Given the description of an element on the screen output the (x, y) to click on. 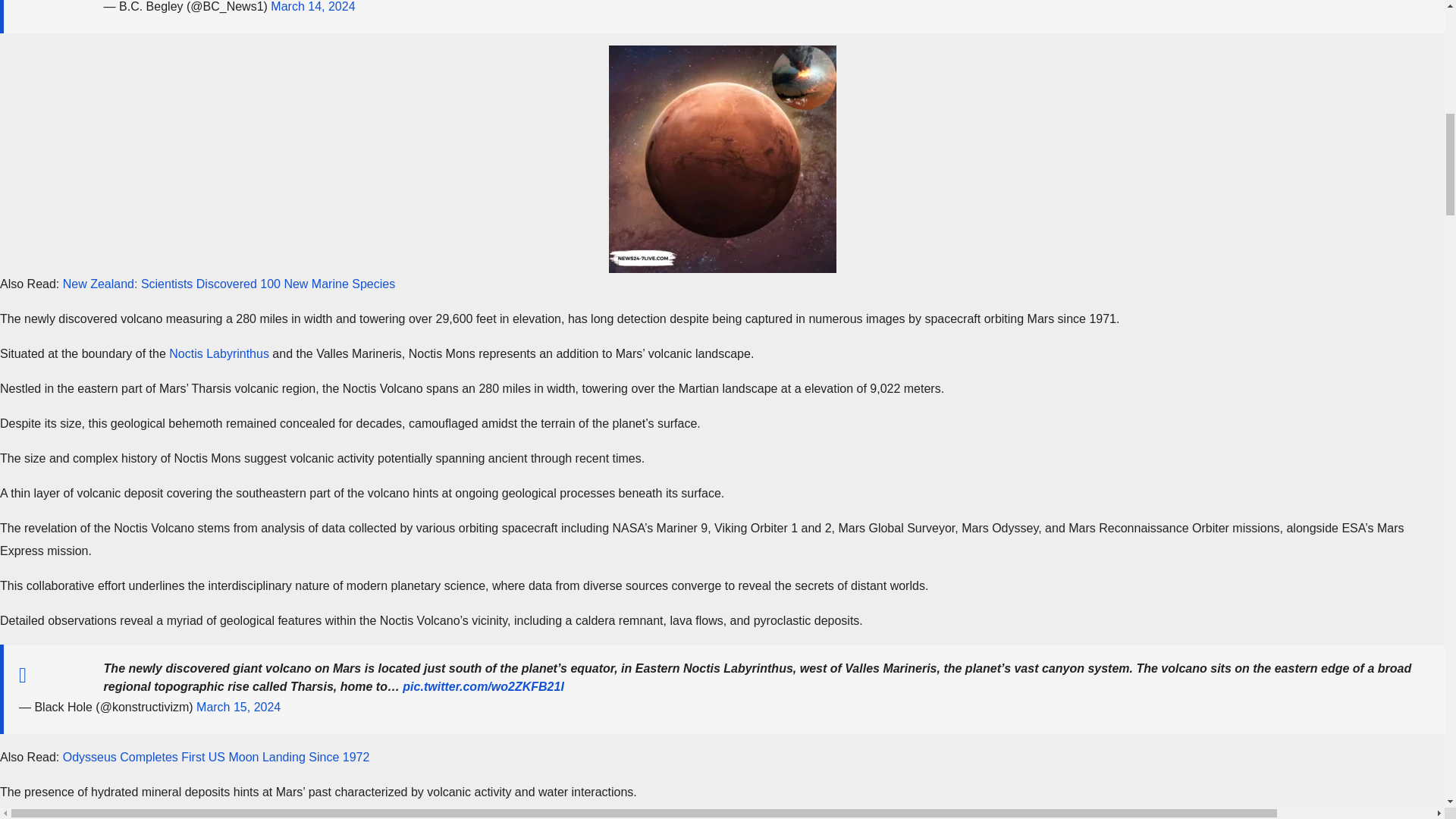
March 15, 2024 (238, 707)
Noctis Labyrinthus (218, 353)
New Zealand: Scientists Discovered 100 New Marine Species (228, 283)
March 14, 2024 (312, 6)
Odysseus Completes First US Moon Landing Since 1972 (215, 757)
